Given the description of an element on the screen output the (x, y) to click on. 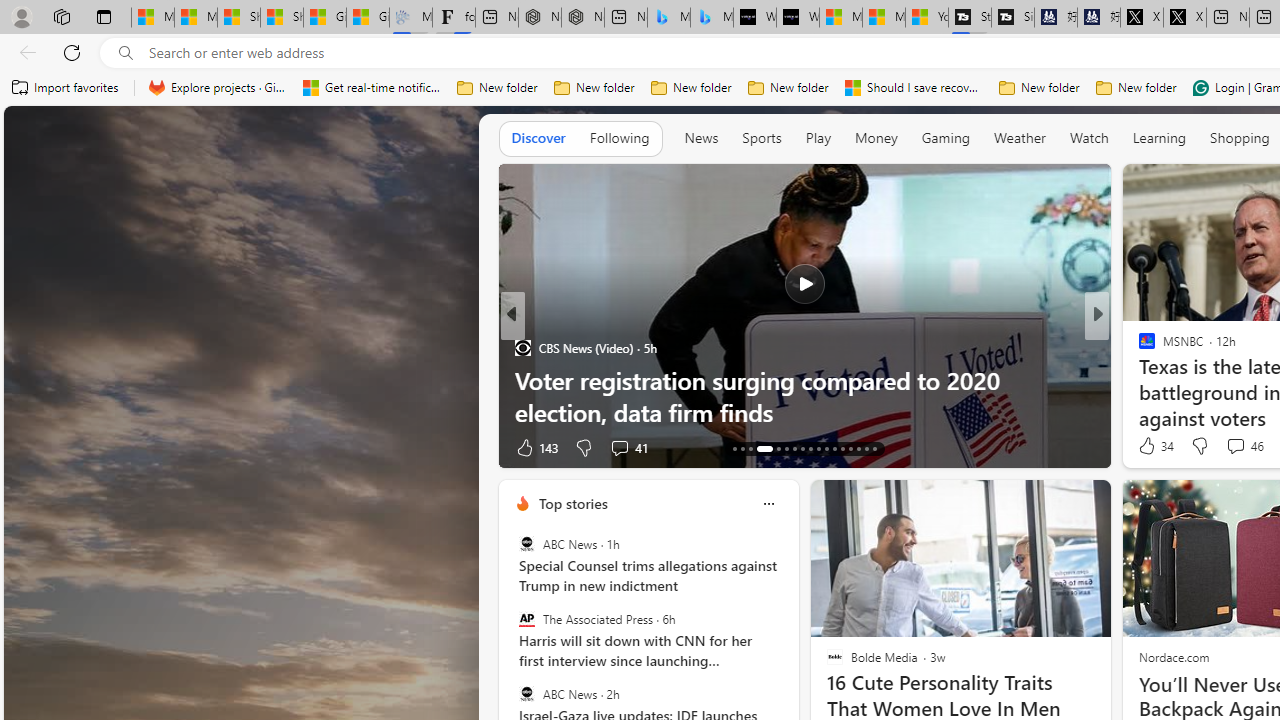
Shopping (1240, 137)
